Given the description of an element on the screen output the (x, y) to click on. 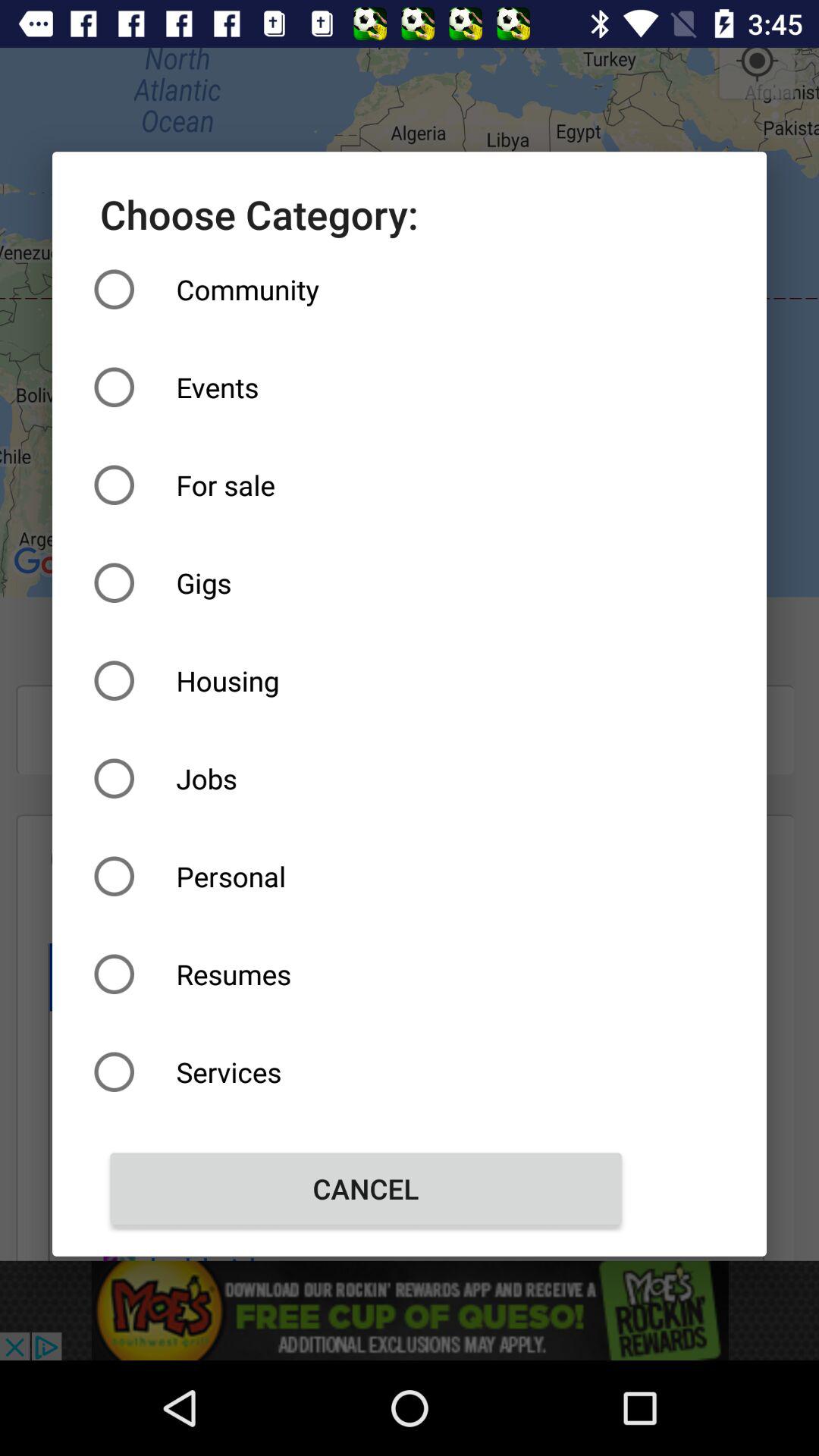
choose personal (365, 876)
